Given the description of an element on the screen output the (x, y) to click on. 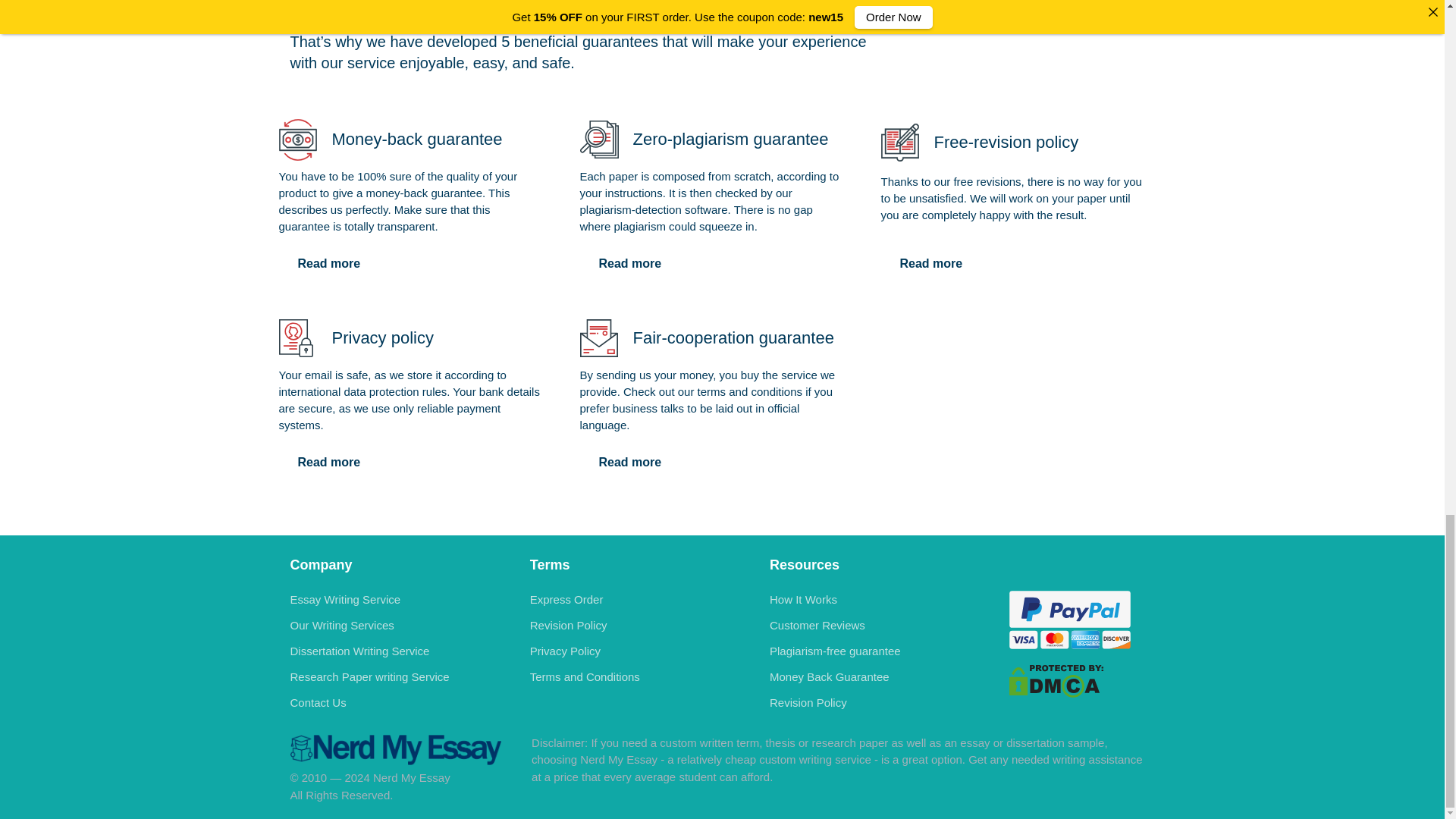
Research Paper writing Service (368, 676)
Essay Writing Service (344, 599)
Read more (329, 462)
Contact Us (317, 702)
Dissertation Writing Service (359, 650)
Express Order (566, 599)
Read more (629, 264)
Our Writing Services (341, 625)
DMCA (1056, 680)
Read more (930, 264)
Read more (329, 264)
Read more (629, 462)
